Given the description of an element on the screen output the (x, y) to click on. 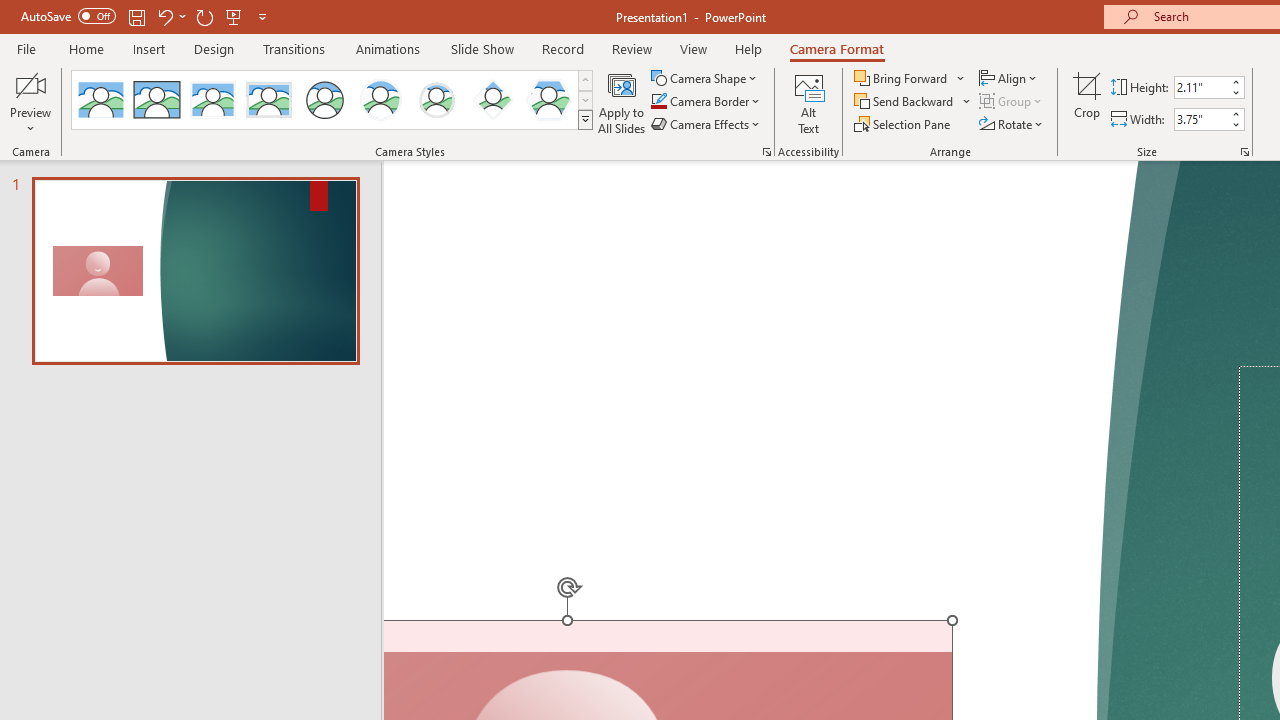
Size and Position... (1244, 151)
Camera Border Blue, Accent 1 (658, 101)
Enable Camera Preview (30, 84)
Center Shadow Circle (381, 100)
Camera Format (836, 48)
Camera Shape (705, 78)
Align (1009, 78)
Apply to All Slides (621, 102)
Cameo Width (1201, 119)
No Style (100, 100)
